Given the description of an element on the screen output the (x, y) to click on. 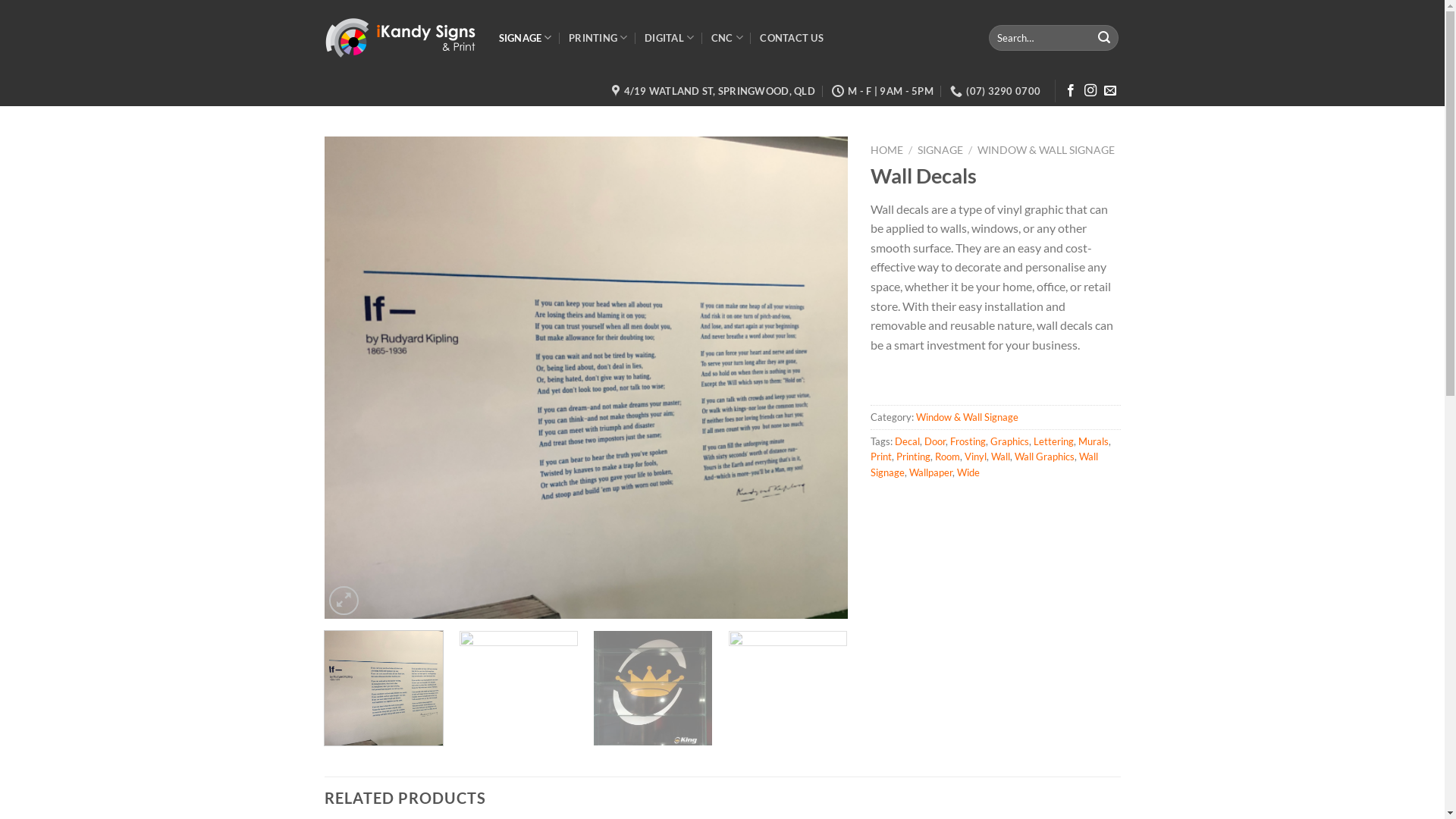
Wall Signage Element type: text (984, 463)
DIGITAL Element type: text (668, 37)
Room Element type: text (946, 456)
Murals Element type: text (1093, 441)
Ikandy Signs & Print - Sweet Visual Communication Solutions Element type: hover (400, 37)
WINDOW & WALL SIGNAGE Element type: text (1045, 150)
Vinyl Element type: text (975, 456)
Wall Element type: text (999, 456)
Search Element type: text (1104, 37)
Wall Graphics Element type: text (1044, 456)
Window & Wall Signage Element type: text (967, 417)
Wallpaper Element type: text (929, 472)
Decal Element type: text (906, 441)
Door Element type: text (933, 441)
Wide Element type: text (968, 472)
SIGNAGE Element type: text (525, 37)
HOME Element type: text (886, 150)
M - F | 9AM - 5PM Element type: text (882, 90)
Lettering Element type: text (1052, 441)
PRINTING Element type: text (597, 37)
CNC Element type: text (727, 37)
Graphics Element type: text (1009, 441)
(07) 3290 0700 Element type: text (995, 90)
Printing Element type: text (913, 456)
daisy hill squash 01 cropped Element type: hover (585, 377)
Frosting Element type: text (967, 441)
CONTACT US Element type: text (791, 37)
4/19 WATLAND ST, SPRINGWOOD, QLD Element type: text (712, 90)
Print Element type: text (880, 456)
SIGNAGE Element type: text (940, 150)
